Given the description of an element on the screen output the (x, y) to click on. 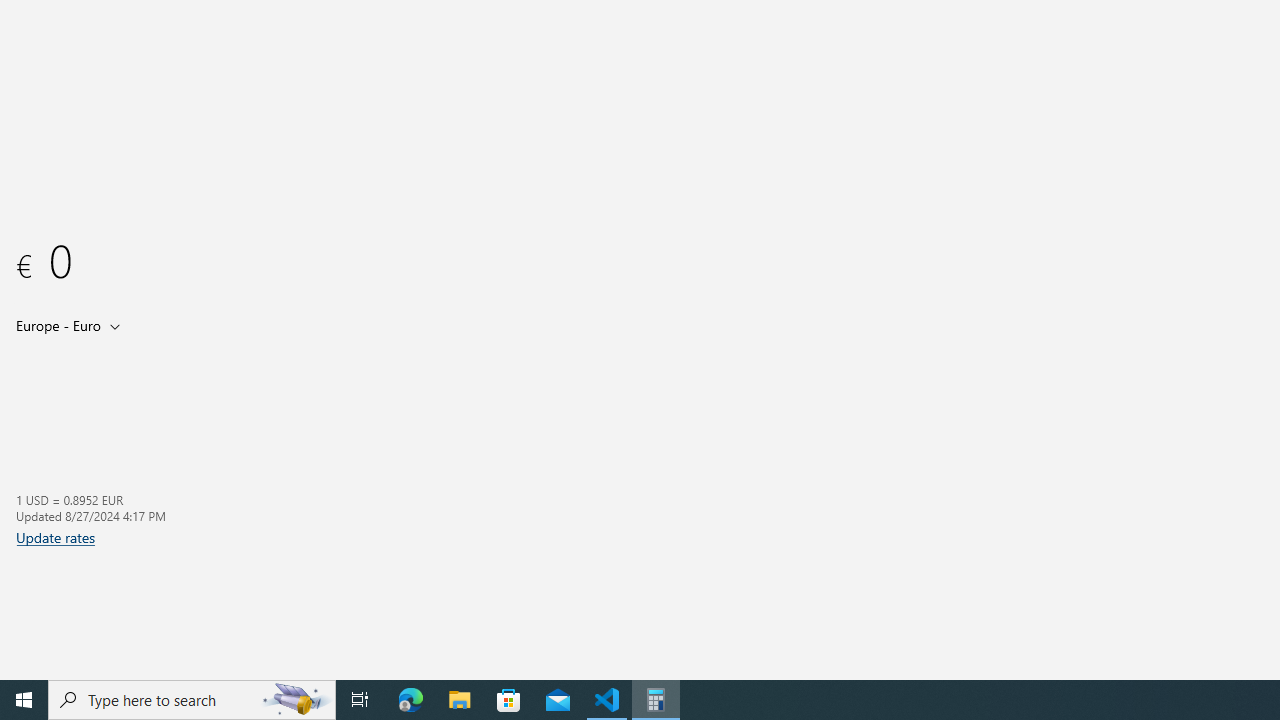
Europe Euro (56, 325)
Output unit (72, 325)
Calculator - 1 running window (656, 699)
Update rates (55, 537)
